Given the description of an element on the screen output the (x, y) to click on. 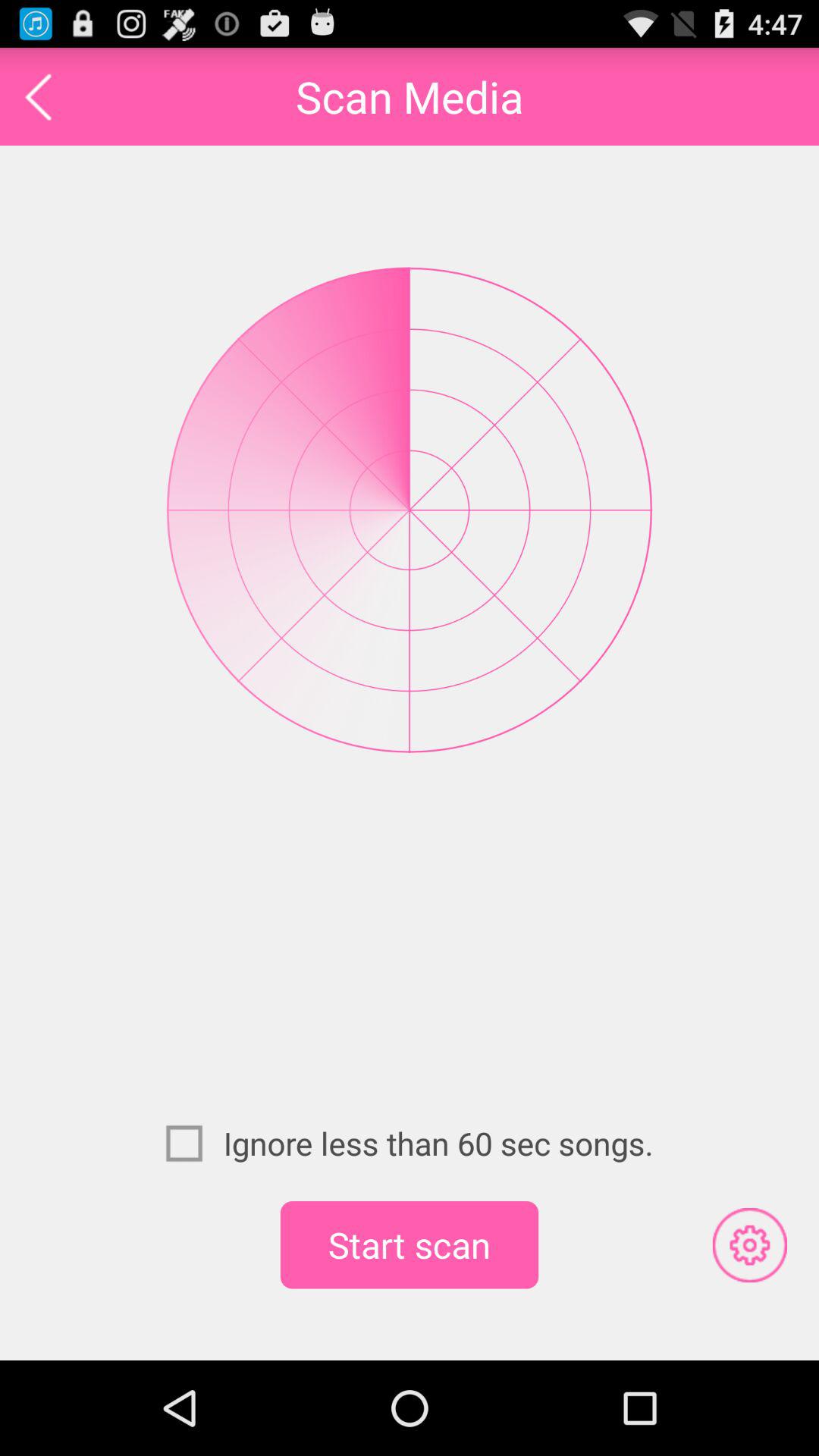
press start scan icon (409, 1244)
